Given the description of an element on the screen output the (x, y) to click on. 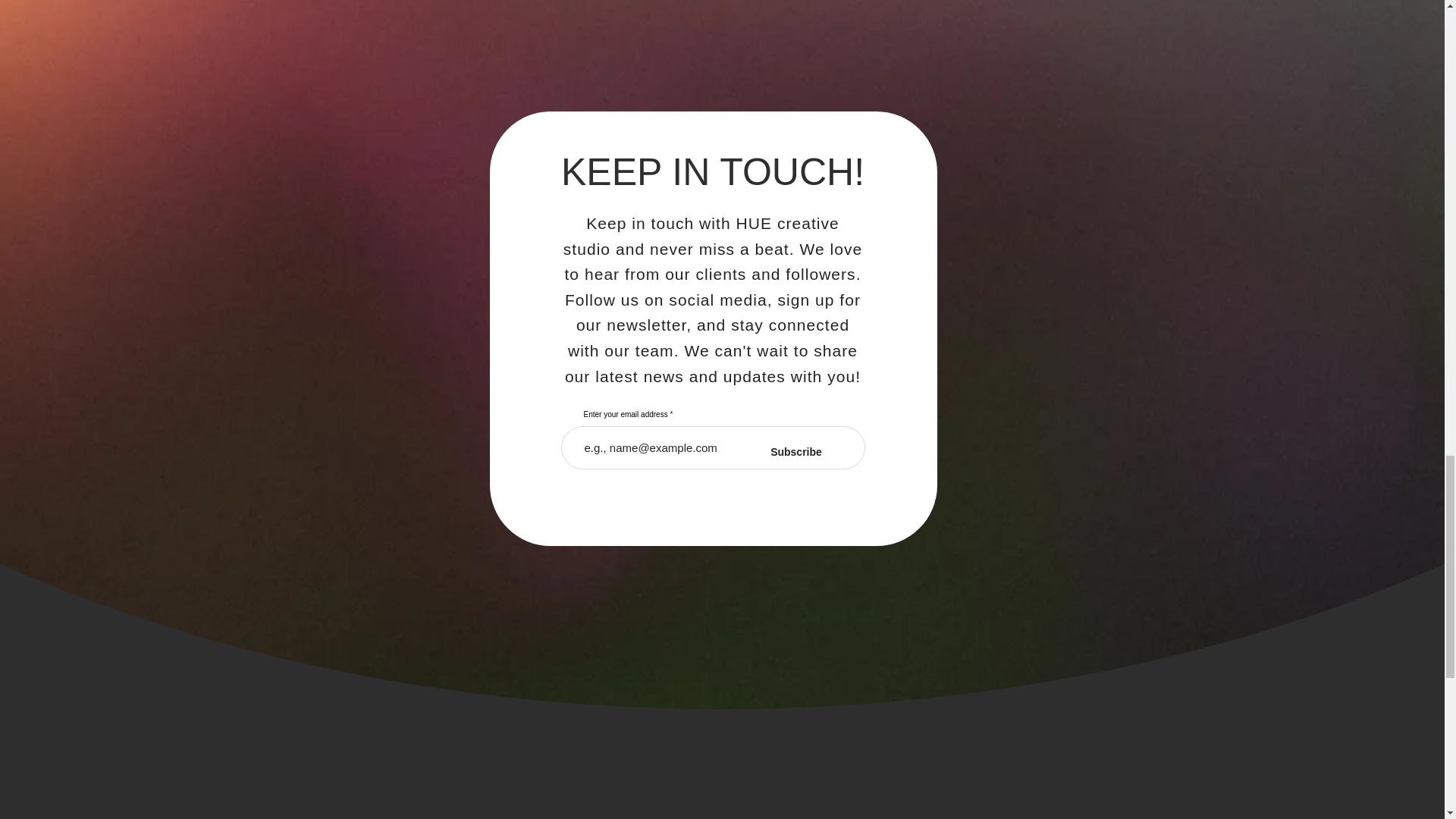
Subscribe (796, 452)
